Given the description of an element on the screen output the (x, y) to click on. 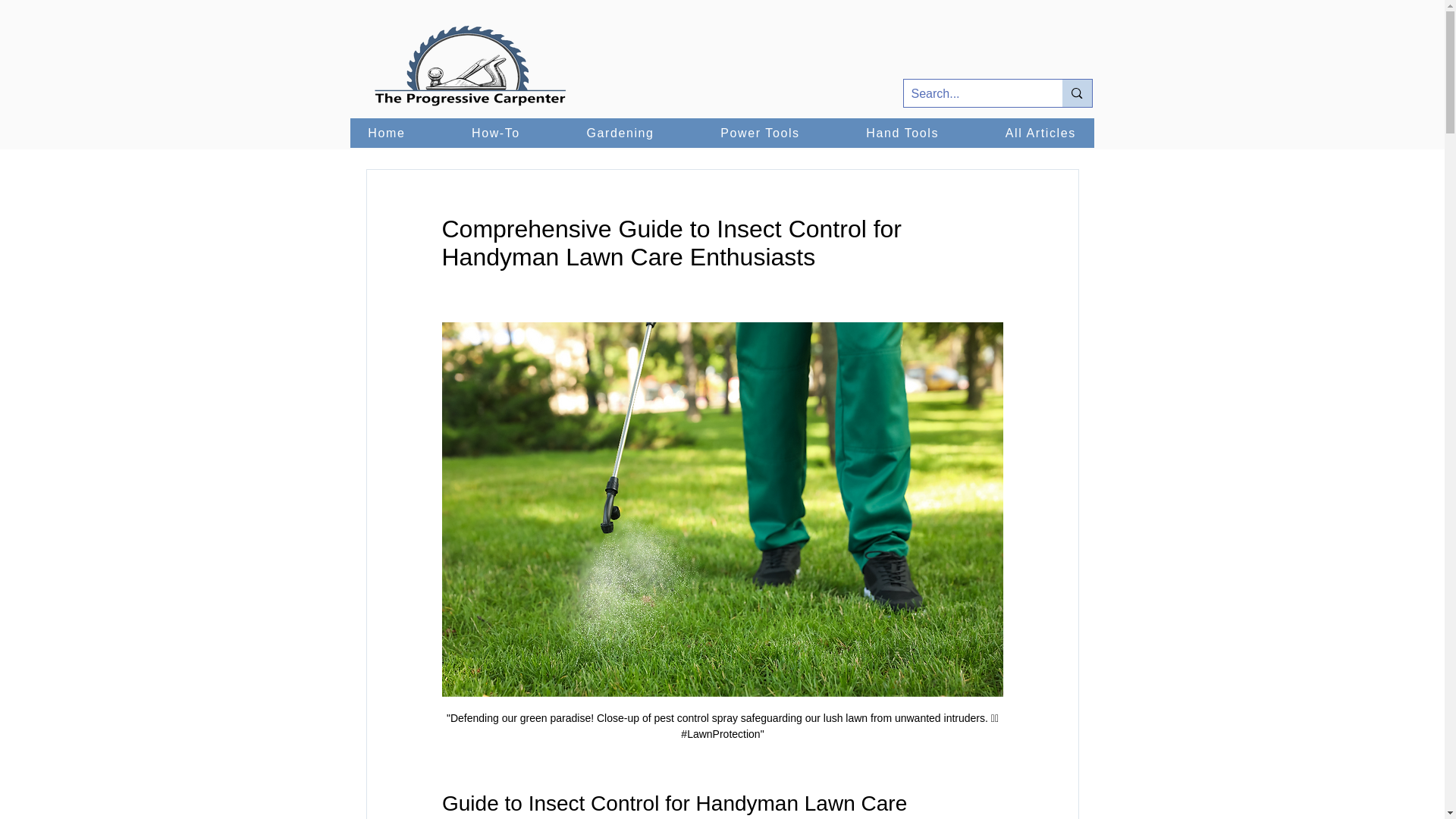
Power Tools (758, 132)
Home (386, 132)
The Progressive Carpenter (470, 66)
All Articles (1040, 132)
Gardening (620, 132)
Hand Tools (902, 132)
How-To (494, 132)
